Given the description of an element on the screen output the (x, y) to click on. 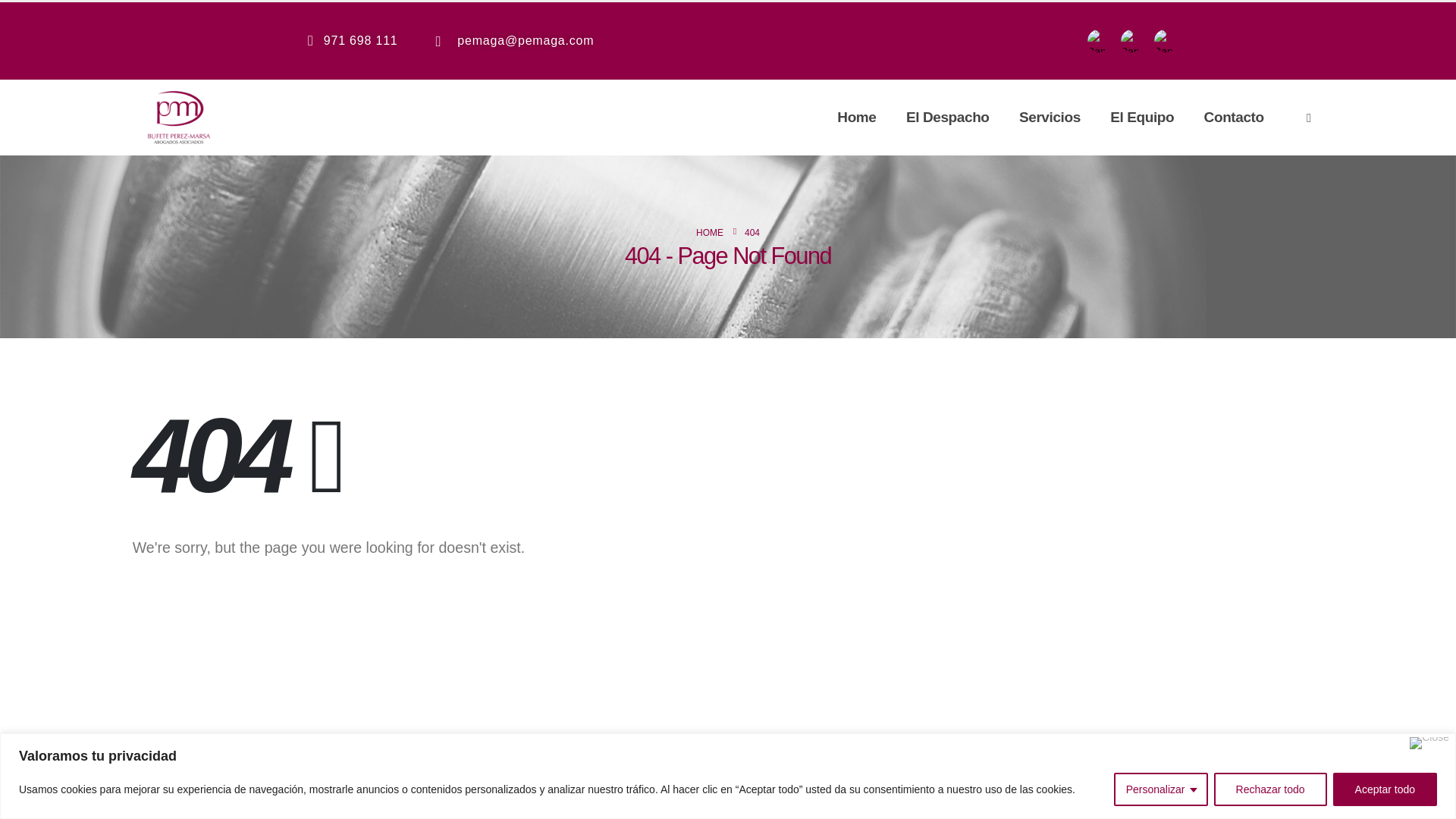
El Equipo (1142, 117)
Contacto (1233, 117)
Servicios (1049, 117)
HOME (709, 232)
De Flag (1165, 40)
Go to Home Page (709, 232)
Eng Flag (1131, 40)
Esp flag (1098, 40)
Pemaga -  (178, 117)
El Despacho (947, 117)
Home (856, 117)
